Given the description of an element on the screen output the (x, y) to click on. 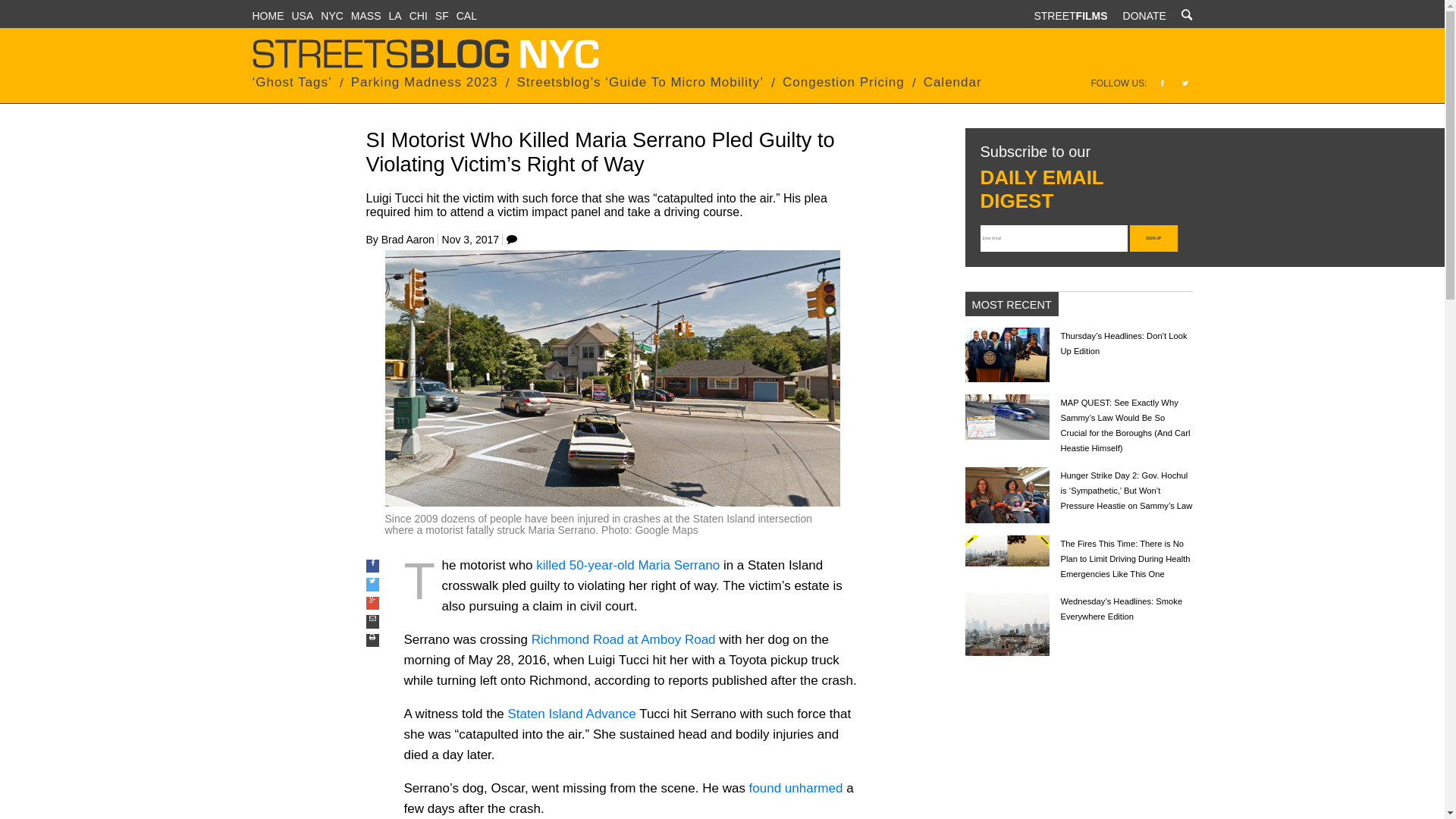
Google Maps (665, 530)
Brad Aaron (407, 239)
SF (441, 15)
Calendar (952, 82)
LA (394, 15)
CHI (418, 15)
NYC (331, 15)
STREETFILMS (1069, 15)
DONATE (1144, 15)
CAL (467, 15)
MASS (365, 15)
Congestion Pricing (843, 82)
Parking Madness 2023 (423, 82)
Nov 3, 2017 (470, 239)
